Given the description of an element on the screen output the (x, y) to click on. 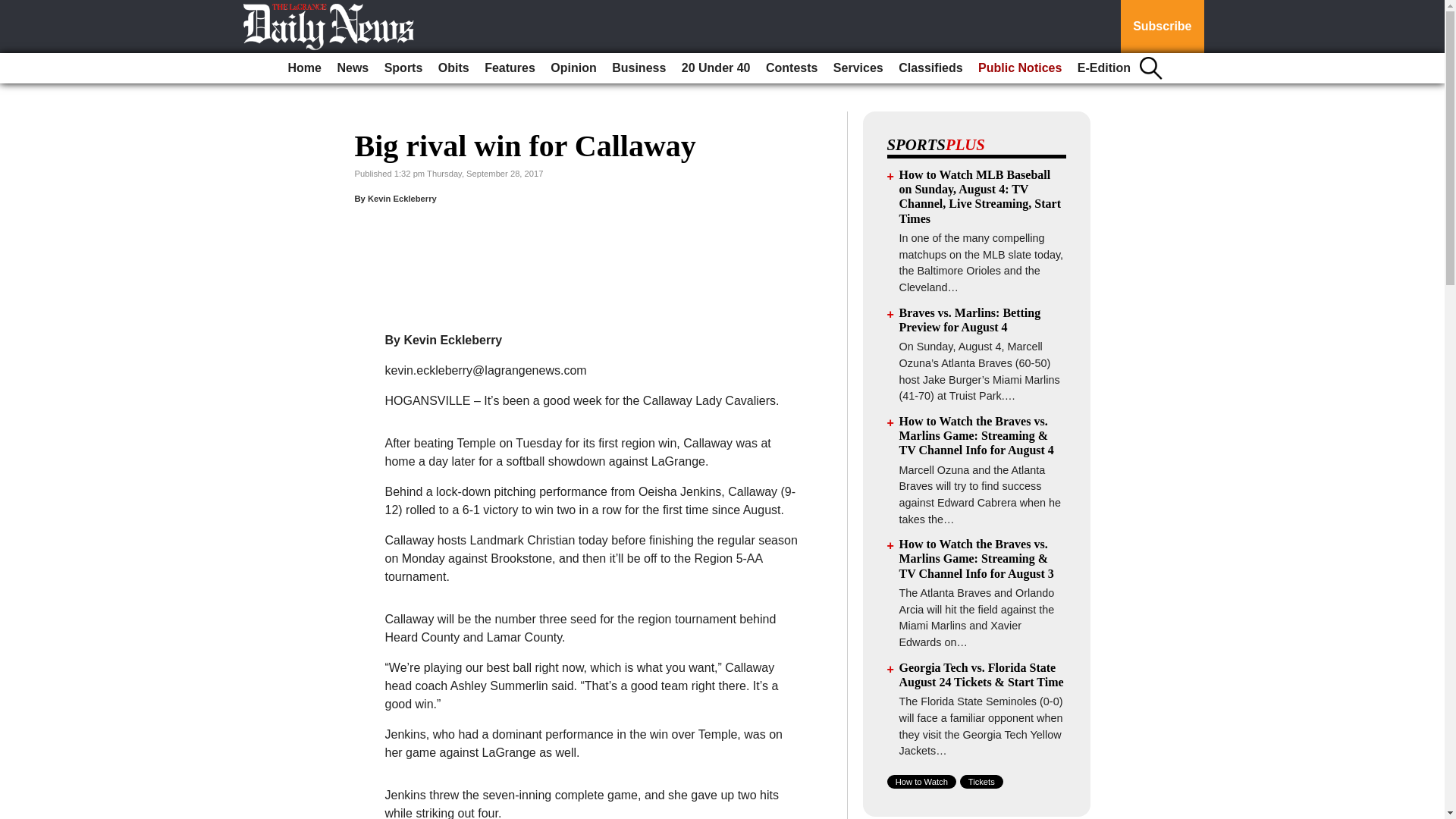
Services (858, 68)
News (352, 68)
Tickets (981, 781)
Classifieds (930, 68)
20 Under 40 (716, 68)
Features (510, 68)
Subscribe (1162, 26)
E-Edition (1104, 68)
How to Watch (921, 781)
Go (13, 9)
Braves vs. Marlins: Betting Preview for August 4 (970, 319)
Opinion (573, 68)
Contests (792, 68)
Home (304, 68)
